Given the description of an element on the screen output the (x, y) to click on. 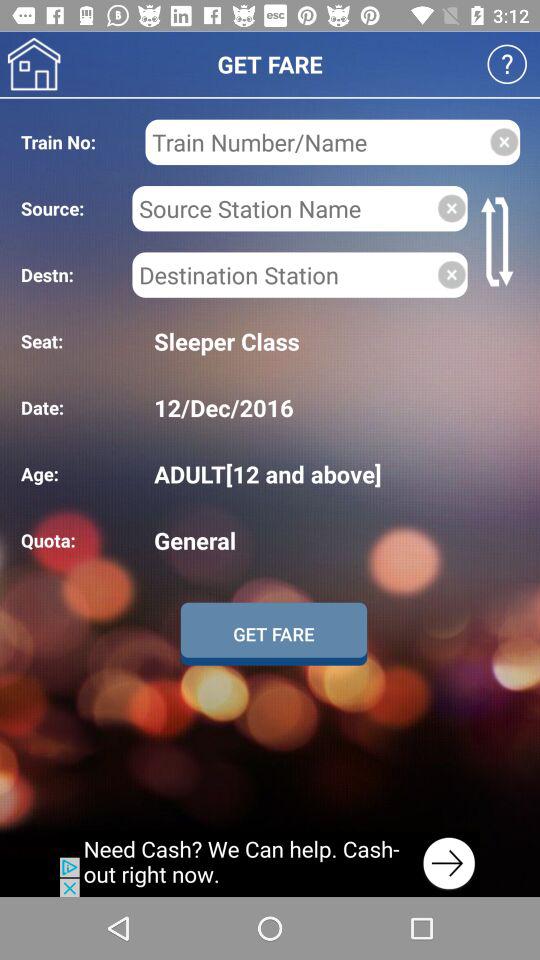
empty source (451, 208)
